Given the description of an element on the screen output the (x, y) to click on. 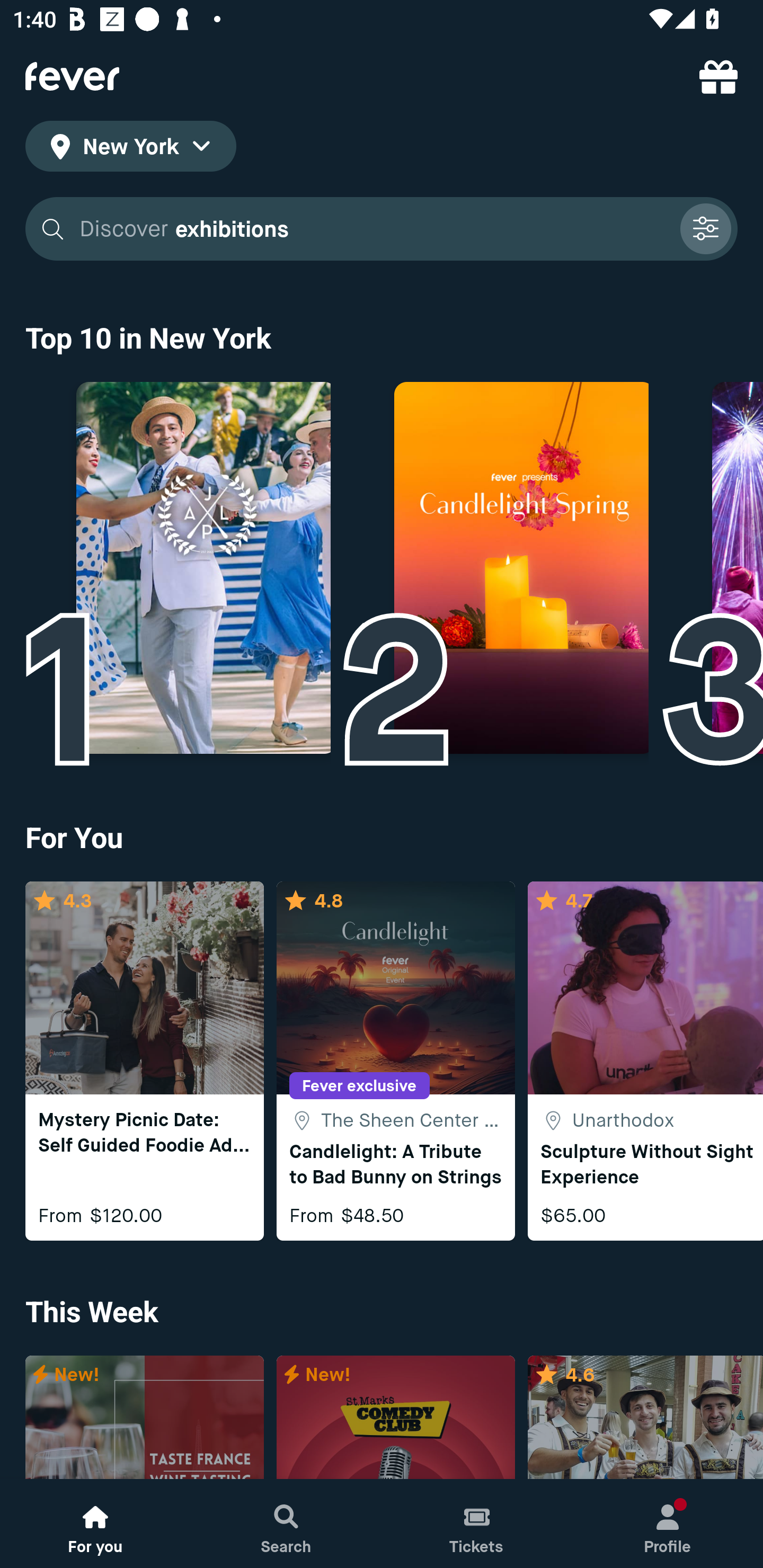
referral (718, 75)
location icon New York location icon (130, 149)
Discover exhibitions (381, 228)
Discover exhibitions (373, 228)
cover image New! label New! (144, 1417)
cover image New! label New! Fever exclusive (395, 1417)
cover image 50.0 4.6 (645, 1417)
Search (285, 1523)
Tickets (476, 1523)
Profile, New notification Profile (667, 1523)
